Given the description of an element on the screen output the (x, y) to click on. 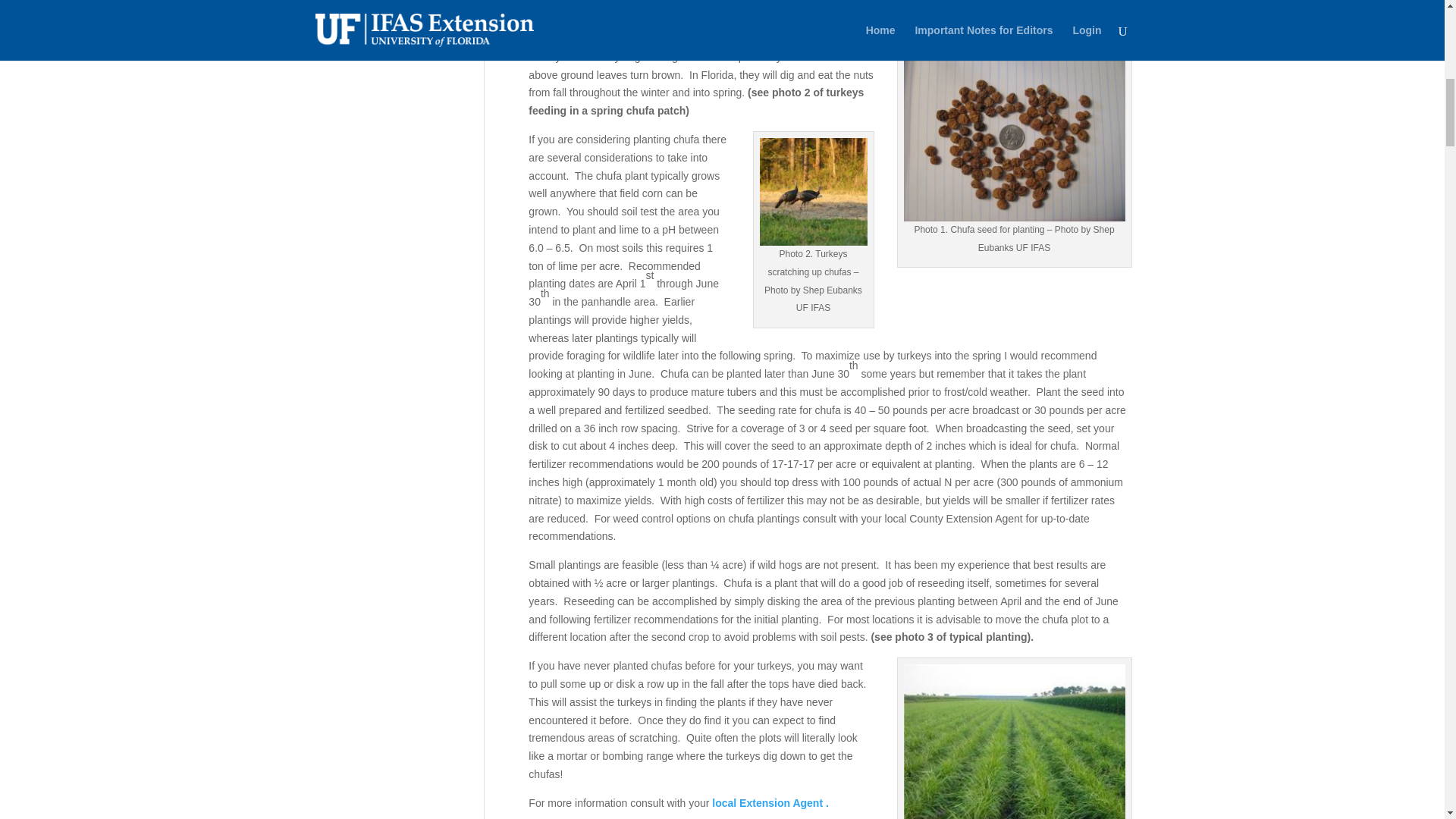
local Extension Agent . (768, 802)
